Given the description of an element on the screen output the (x, y) to click on. 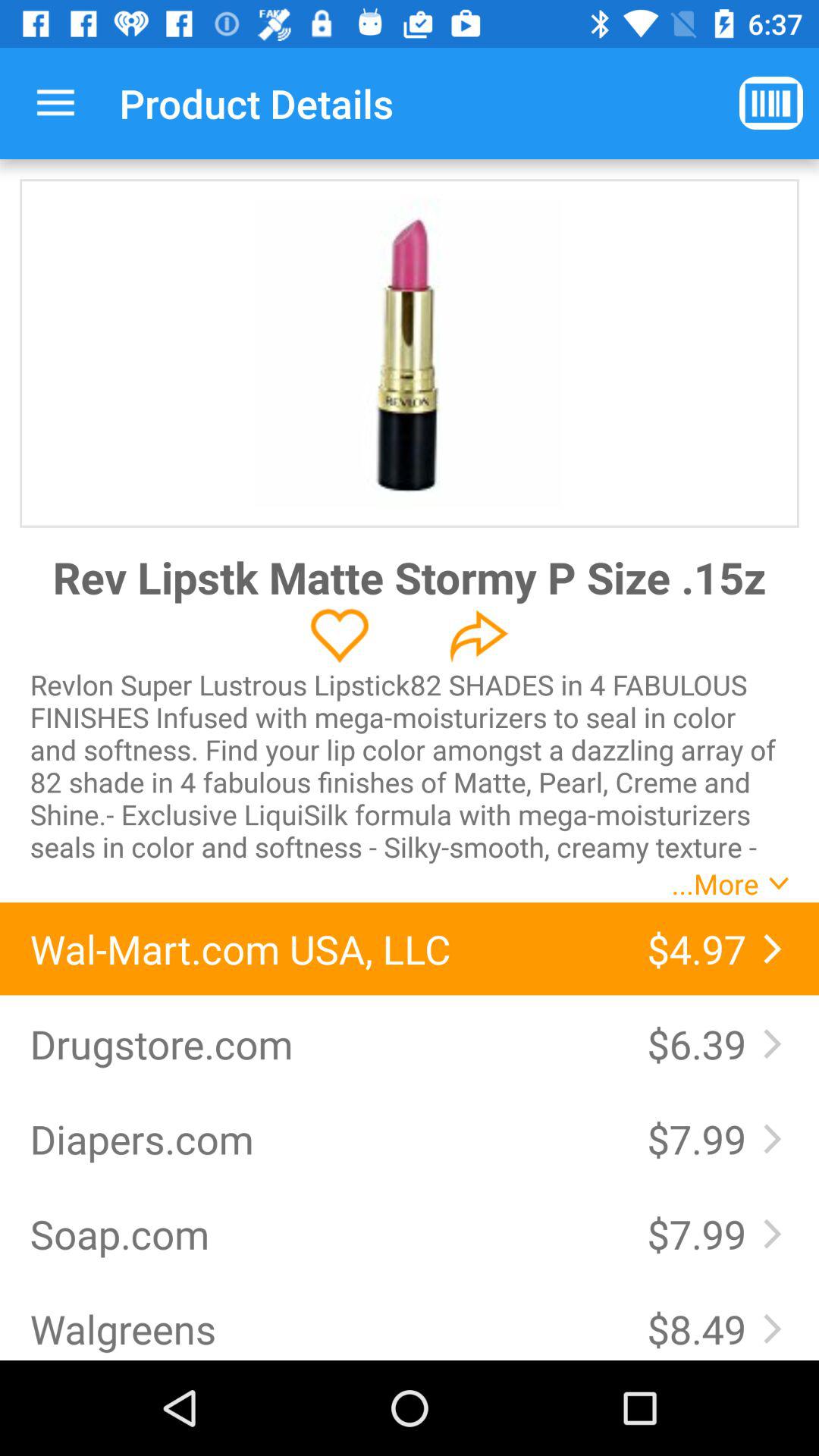
select the item above the diapers.com icon (323, 1043)
